Given the description of an element on the screen output the (x, y) to click on. 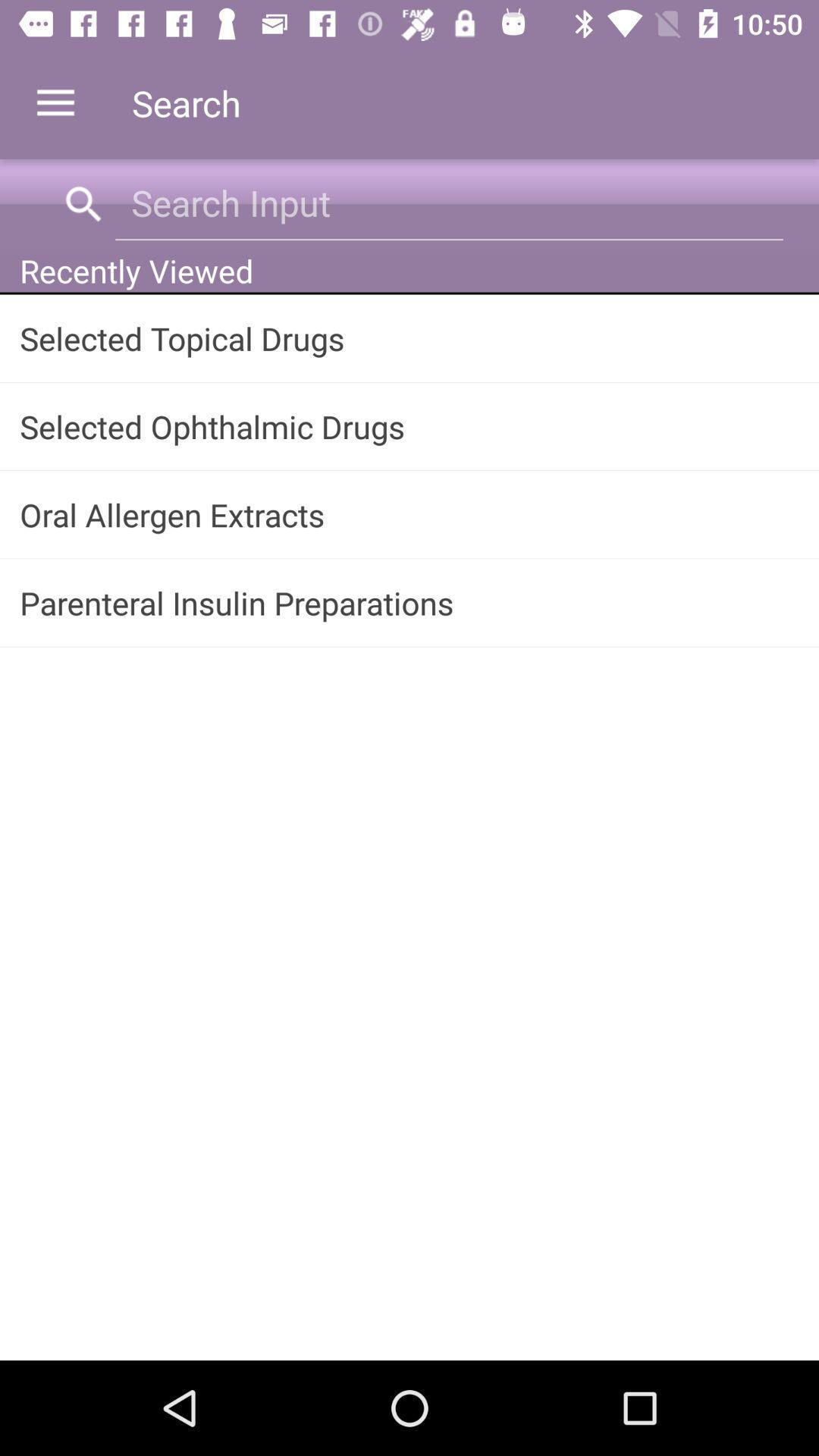
click the oral allergen extracts (409, 514)
